Given the description of an element on the screen output the (x, y) to click on. 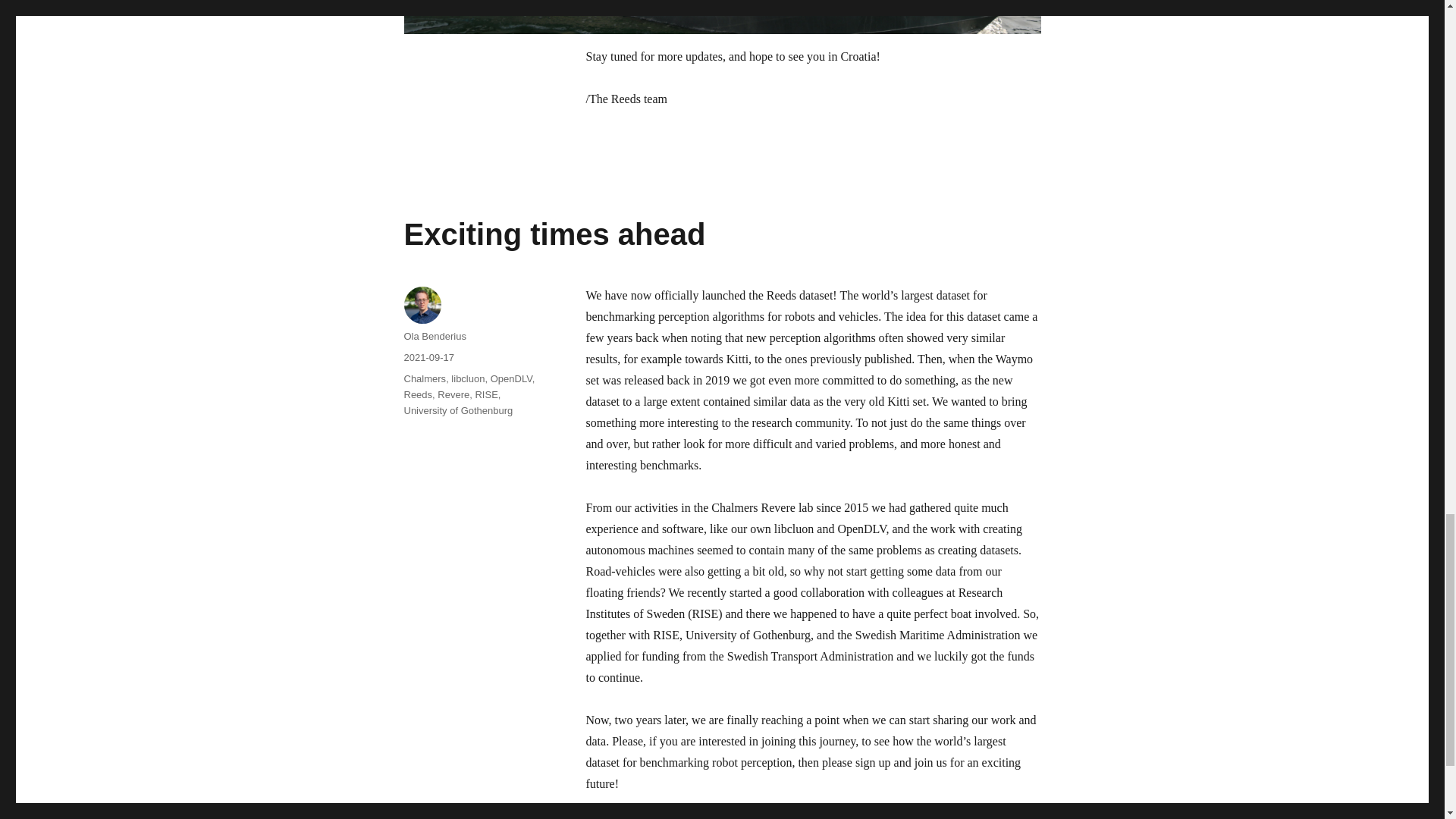
Revere (453, 394)
University of Gothenburg (457, 410)
OpenDLV (511, 378)
RISE (485, 394)
Chalmers (424, 378)
Exciting times ahead (553, 233)
Reeds (417, 394)
libcluon (467, 378)
Ola Benderius (434, 336)
2021-09-17 (428, 357)
